Given the description of an element on the screen output the (x, y) to click on. 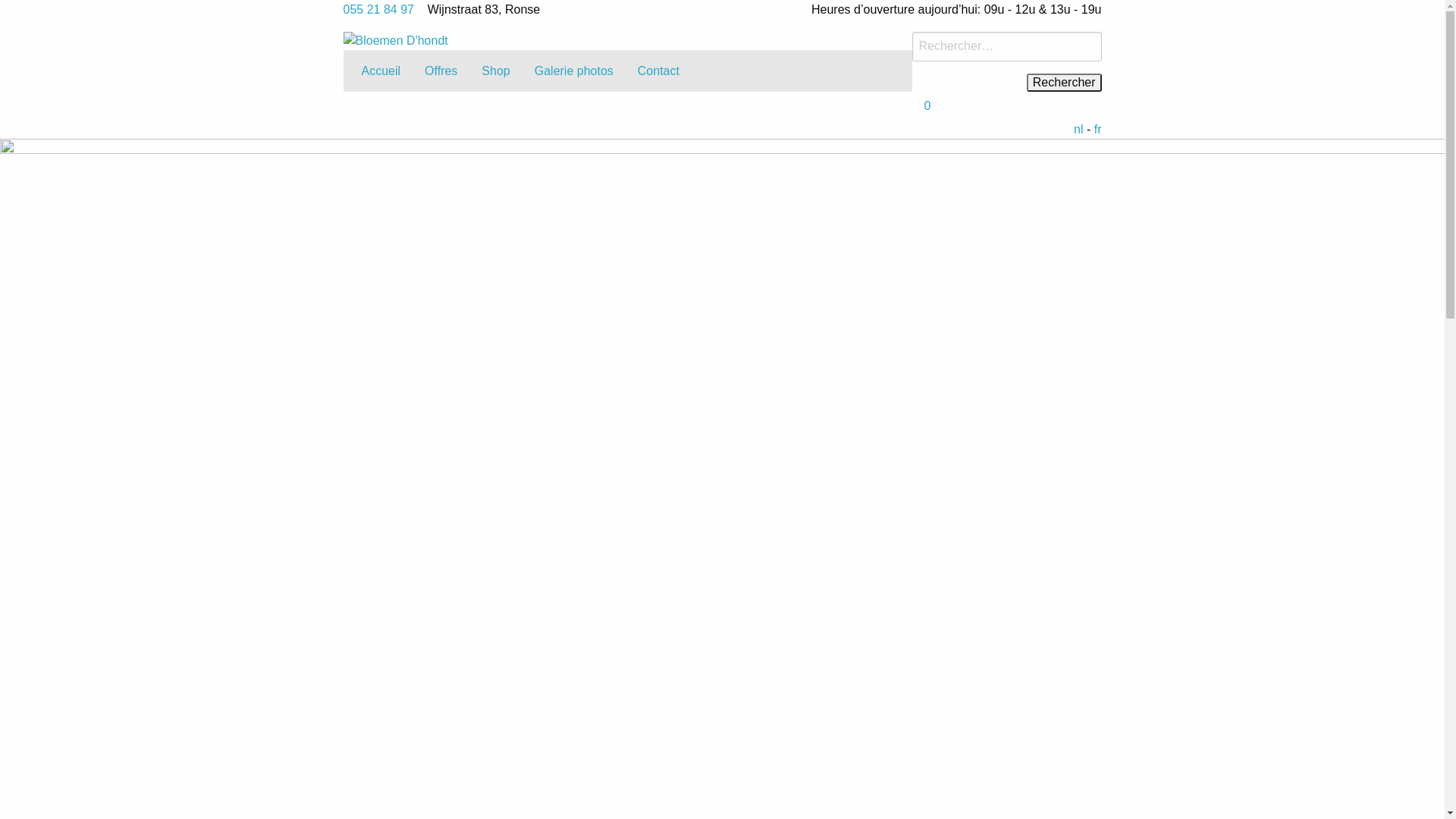
nl Element type: text (1077, 128)
fr Element type: text (1097, 128)
Accueil Element type: text (380, 70)
Shop Element type: text (495, 70)
0 Element type: text (926, 105)
Offres Element type: text (440, 70)
Contact Element type: text (658, 70)
055 21 84 97 Element type: text (377, 9)
Galerie photos Element type: text (573, 70)
Rechercher Element type: text (1063, 82)
